Given the description of an element on the screen output the (x, y) to click on. 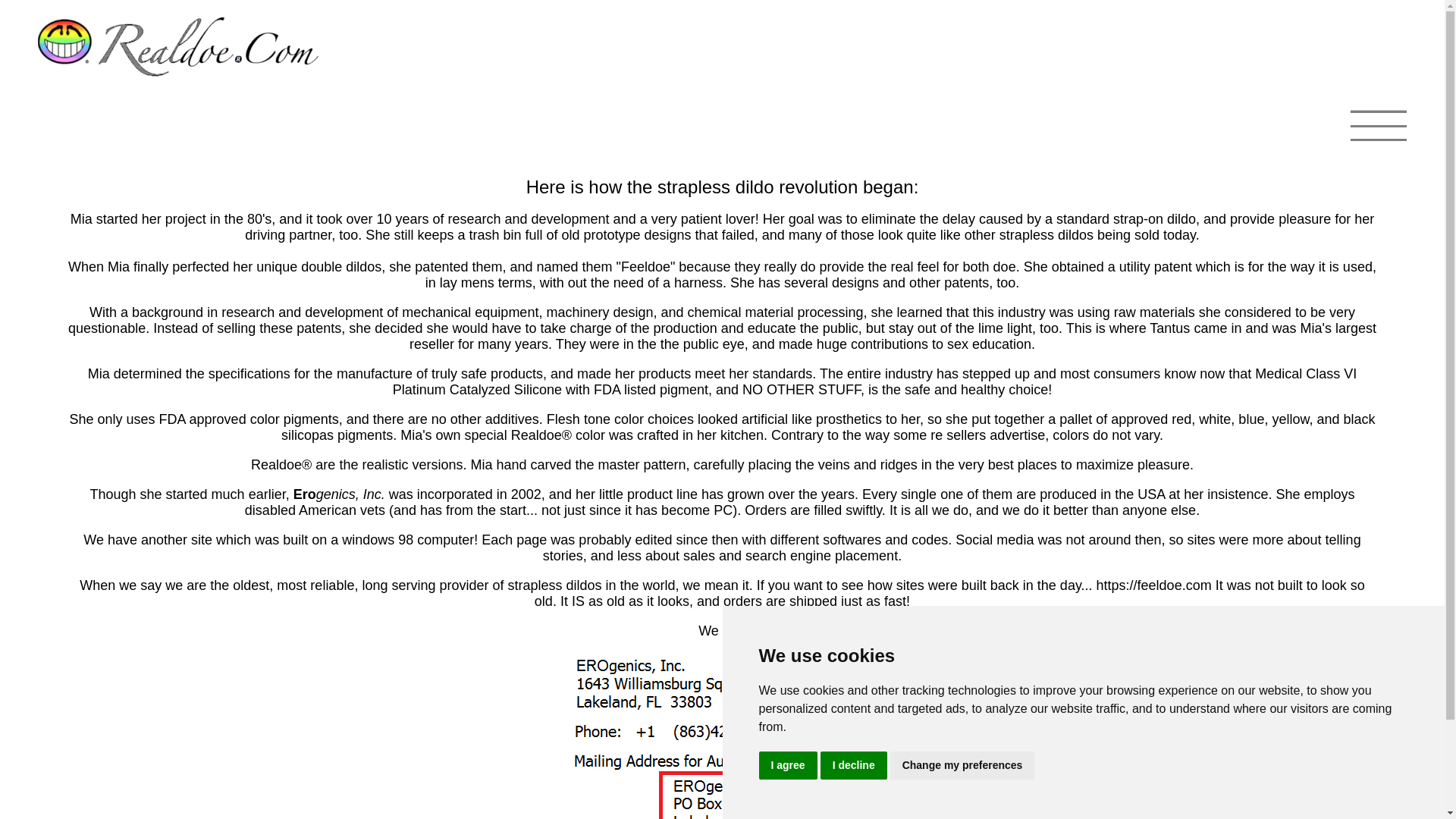
I decline (853, 765)
Change my preferences (962, 765)
I agree (787, 765)
